Given the description of an element on the screen output the (x, y) to click on. 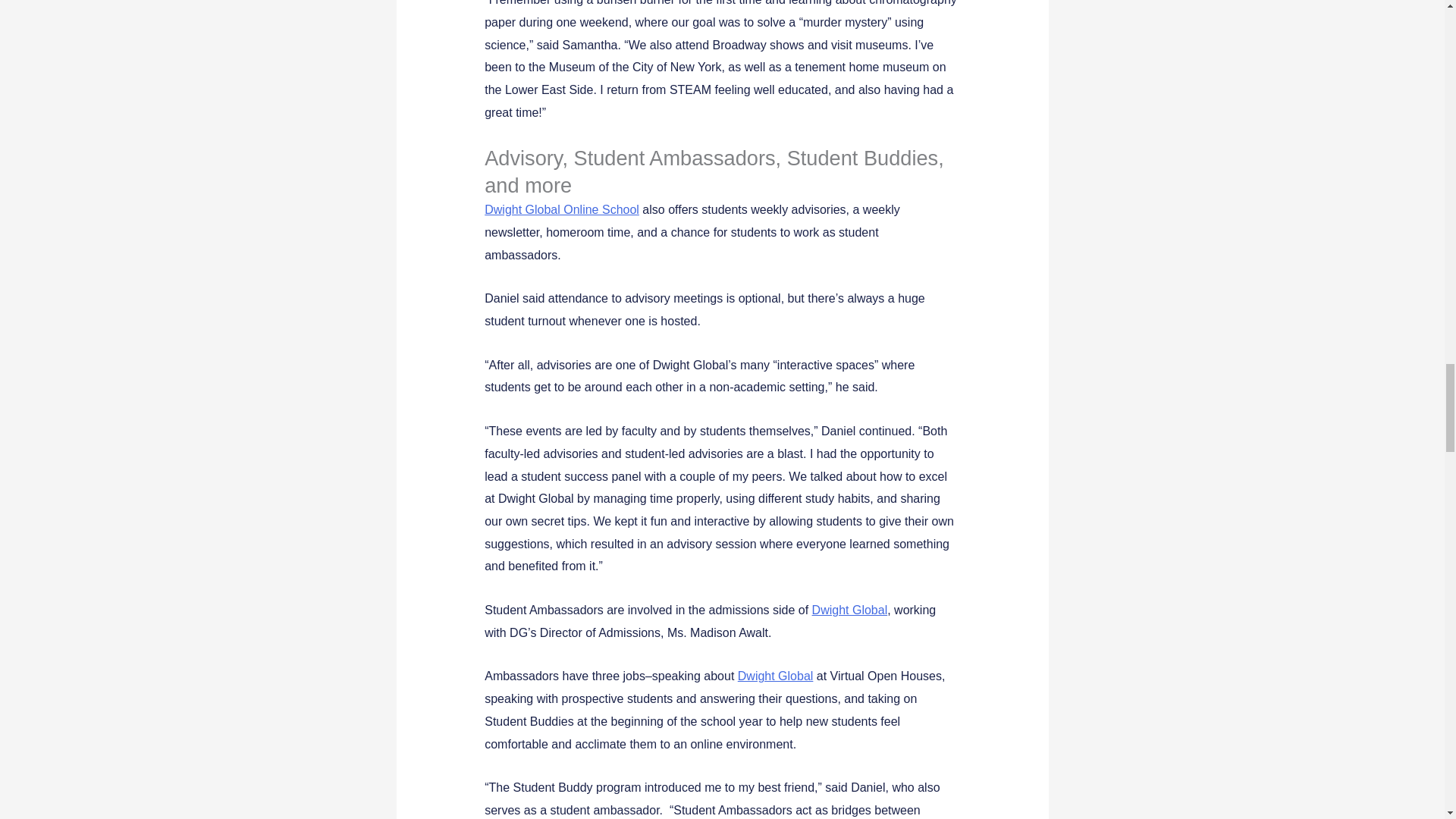
Dwight Global (850, 609)
Dwight Global Online School (561, 209)
Dwight Global (775, 675)
